Given the description of an element on the screen output the (x, y) to click on. 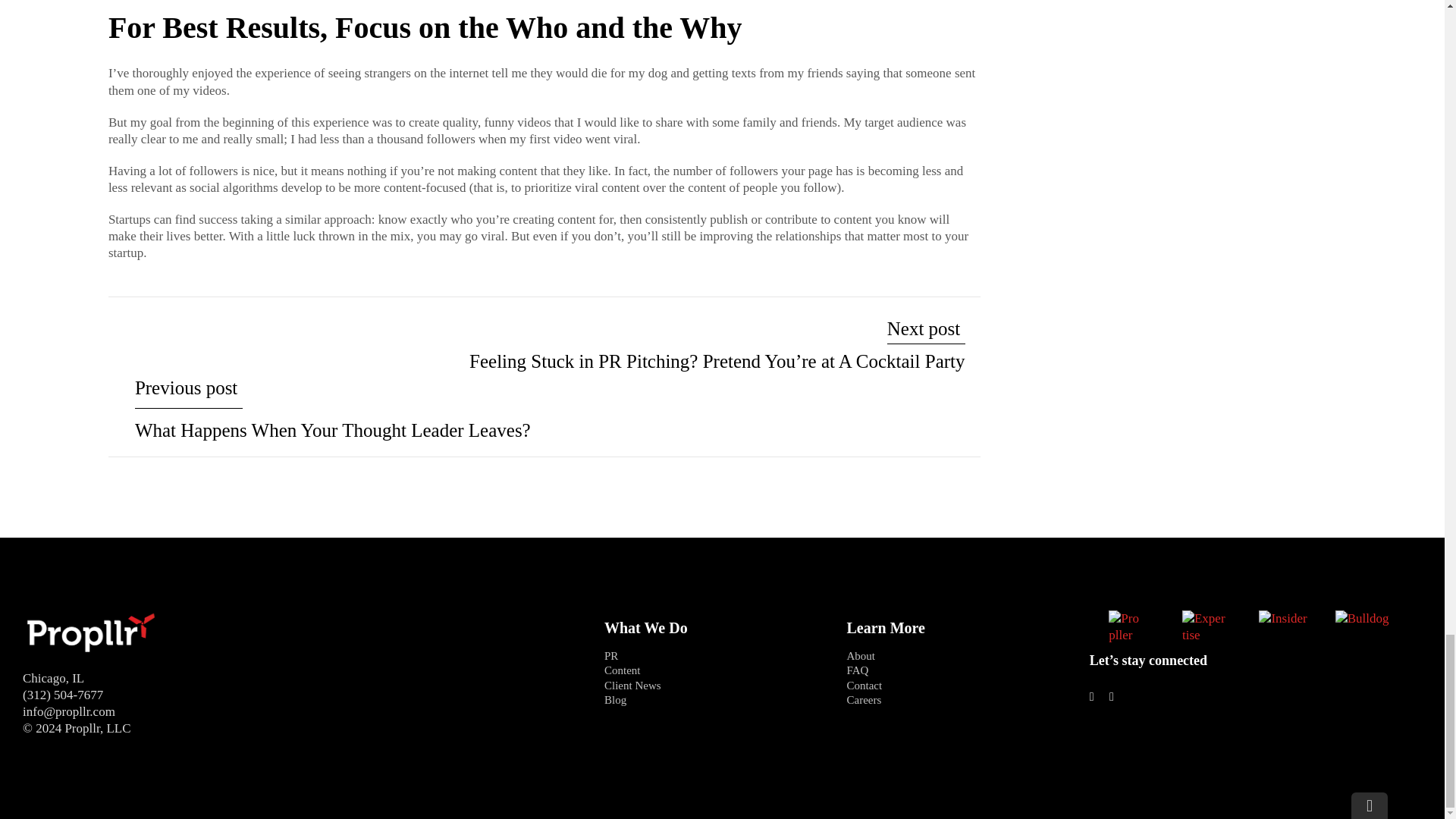
Expertise (1203, 626)
What Happens When Your Thought Leader Leaves? (333, 409)
Bulldog (1362, 618)
Insider (1282, 618)
Bench Mark It (90, 633)
Propller (1124, 626)
